Given the description of an element on the screen output the (x, y) to click on. 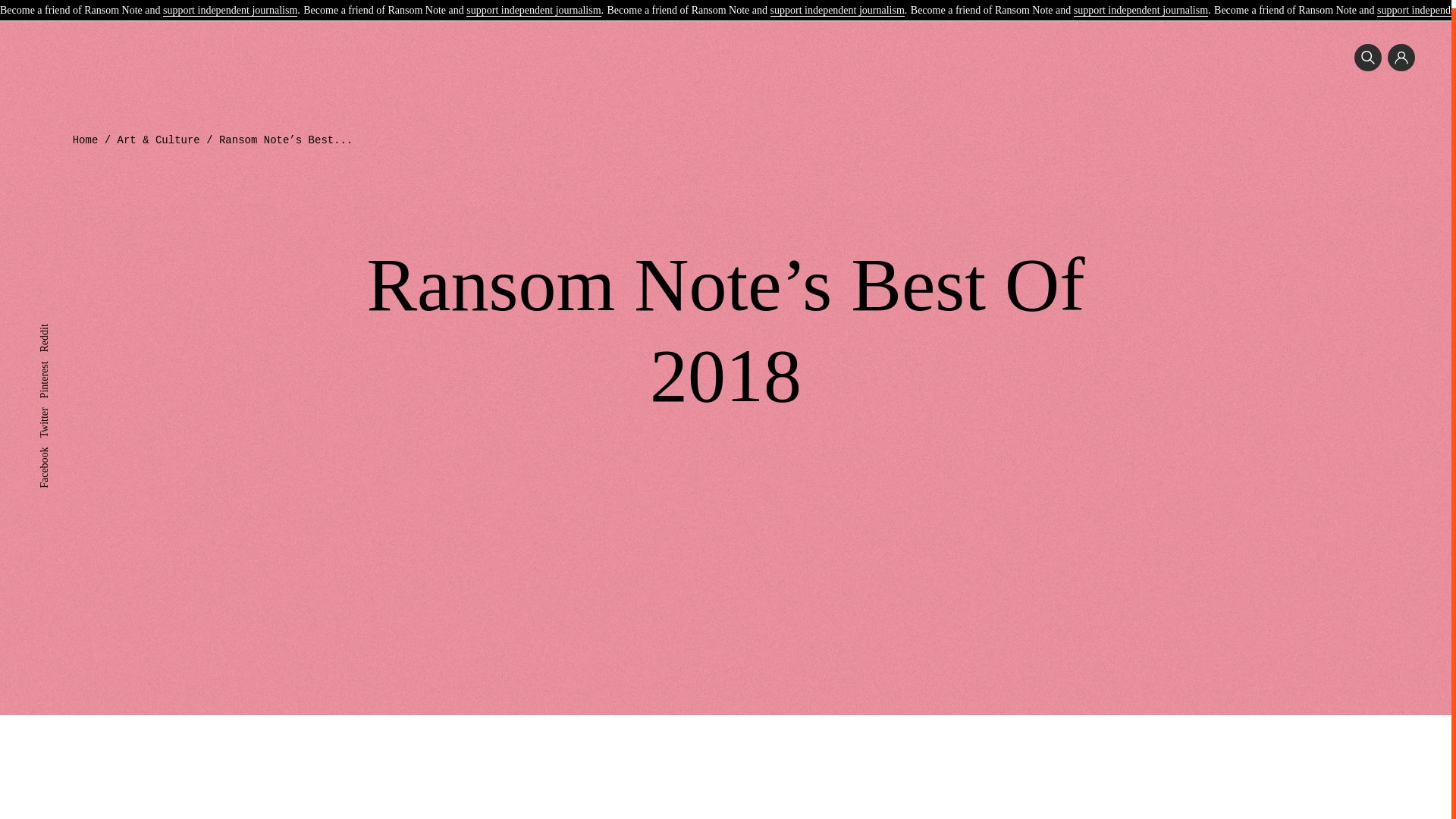
support independent journalism (837, 4)
Facebook (59, 444)
Twitter (53, 404)
Home (85, 140)
Pinterest (57, 358)
Reddit (52, 321)
support independent journalism (230, 4)
support independent journalism (1141, 4)
support independent journalism (532, 4)
